Given the description of an element on the screen output the (x, y) to click on. 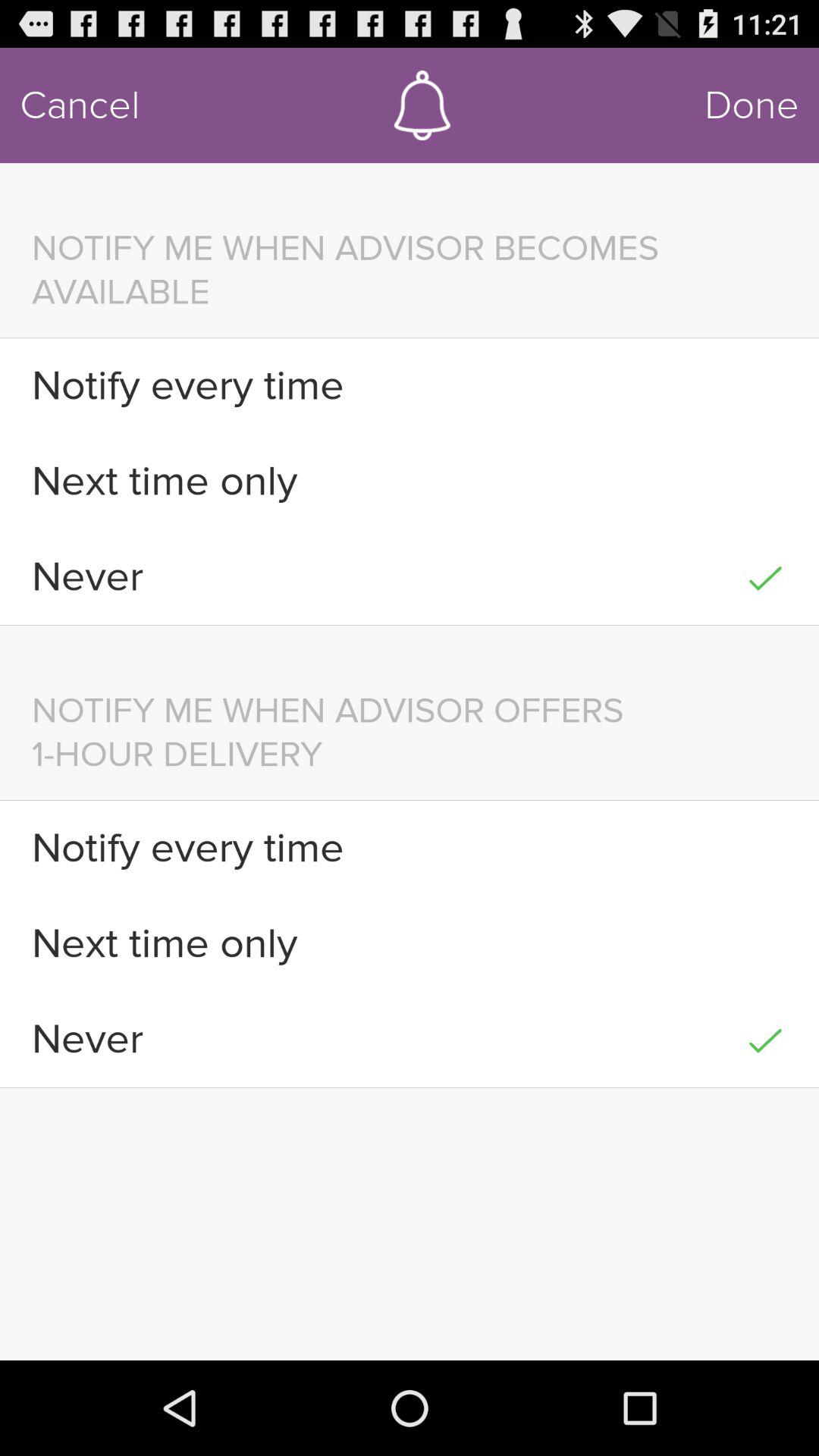
turn off item above the notify me when icon (79, 105)
